Given the description of an element on the screen output the (x, y) to click on. 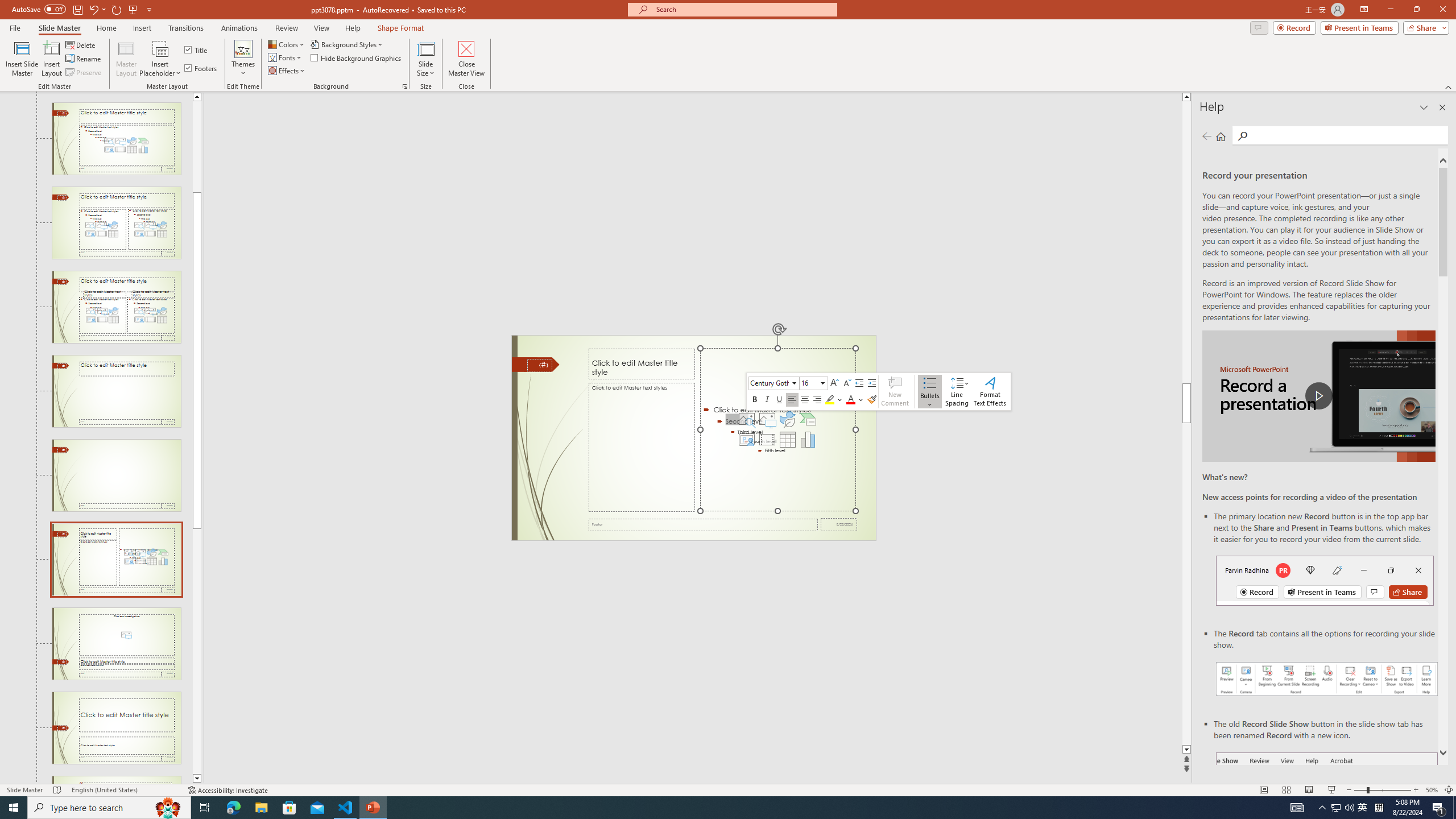
Stock Images (746, 419)
Insert Cameo (746, 439)
Rename (84, 58)
Insert Layout (51, 58)
Class: NetUIToolWindow (878, 391)
Insert Slide Master (21, 58)
Delete (81, 44)
